Given the description of an element on the screen output the (x, y) to click on. 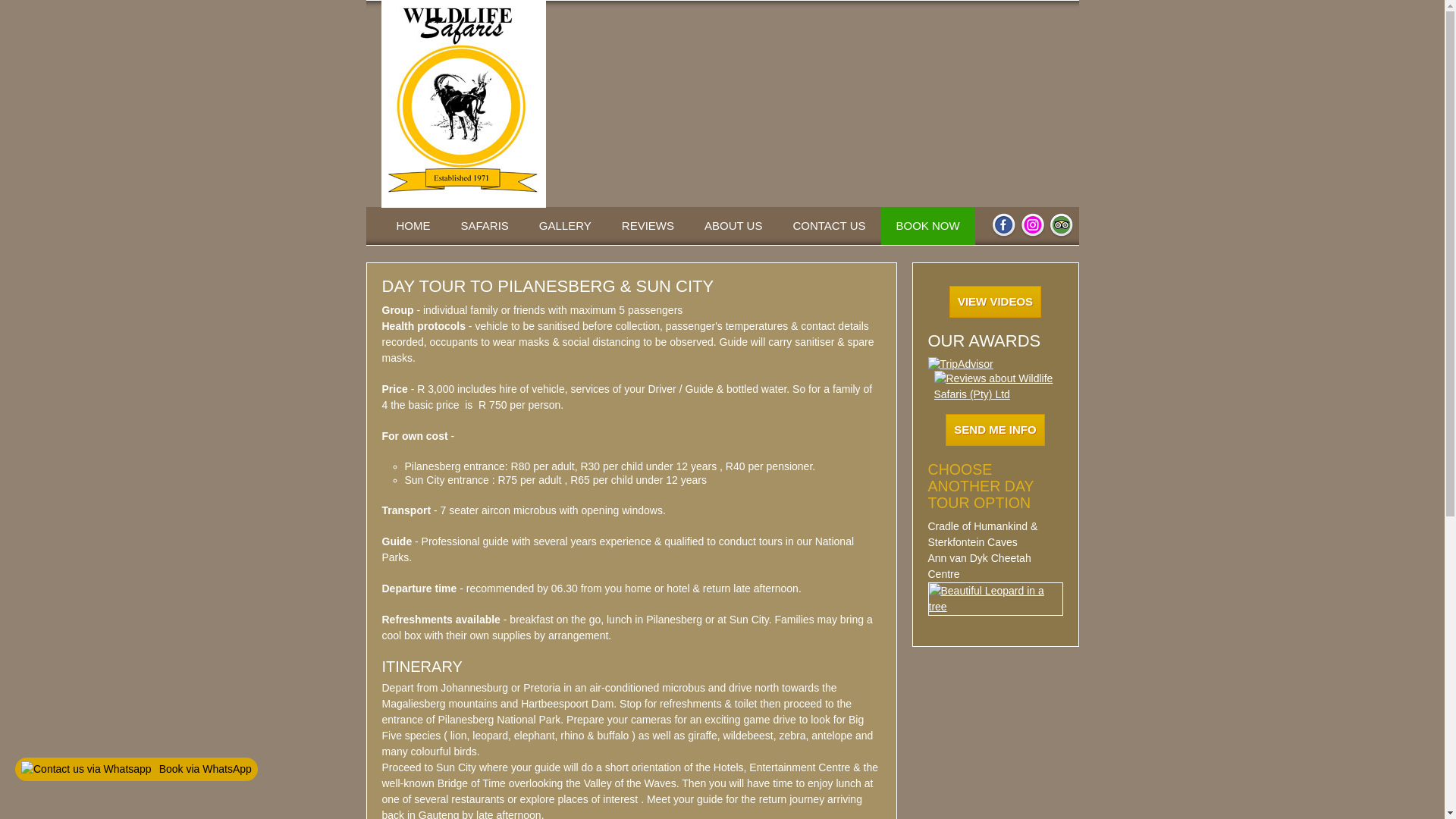
Back to Wildlife Safaris home page (412, 225)
HOME (412, 225)
GALLERY (565, 225)
SAFARIS (484, 225)
Go on an African safari with Wildlife Safaris (484, 225)
